Given the description of an element on the screen output the (x, y) to click on. 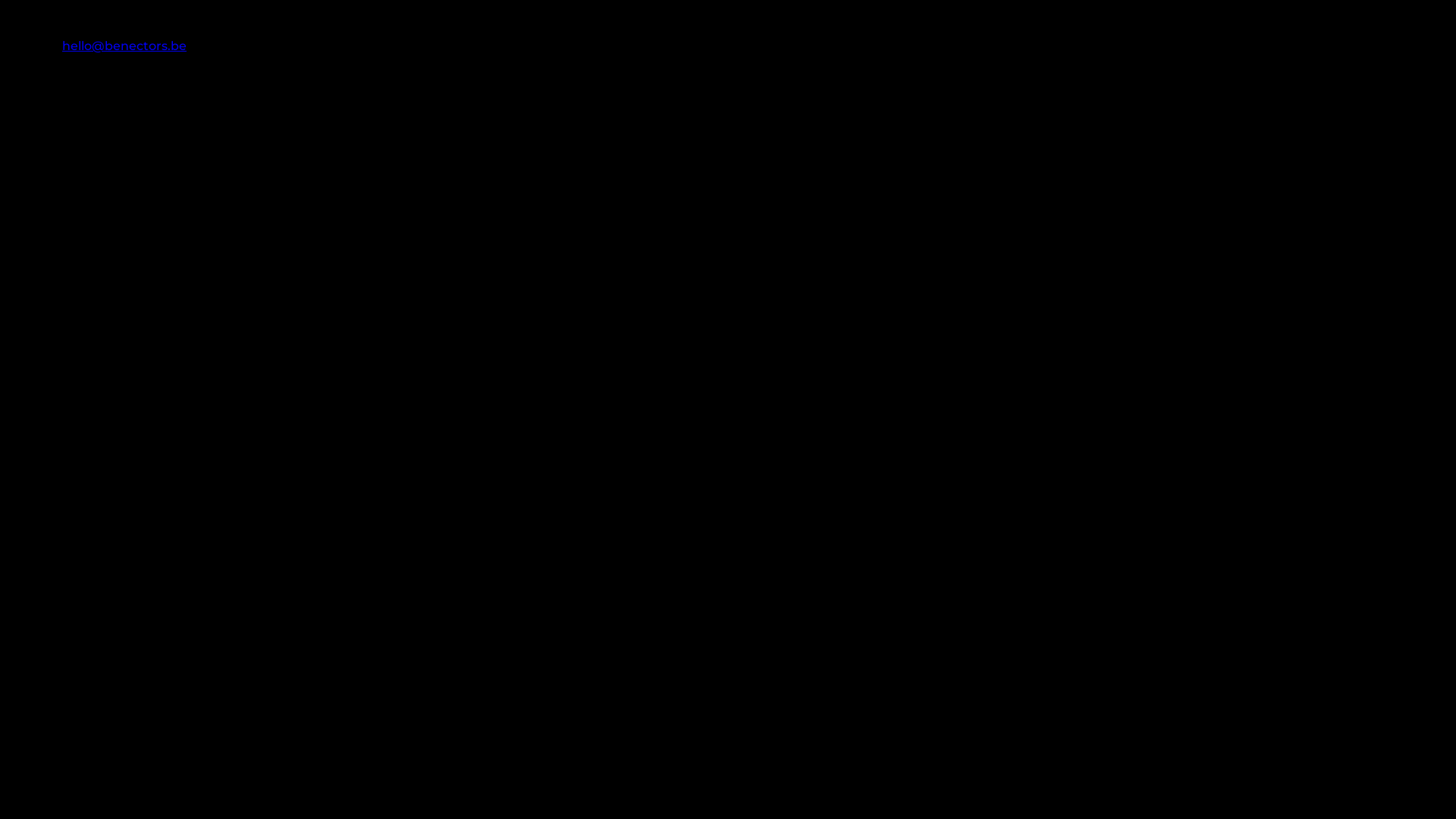
hello@benectors.be Element type: text (124, 45)
